Given the description of an element on the screen output the (x, y) to click on. 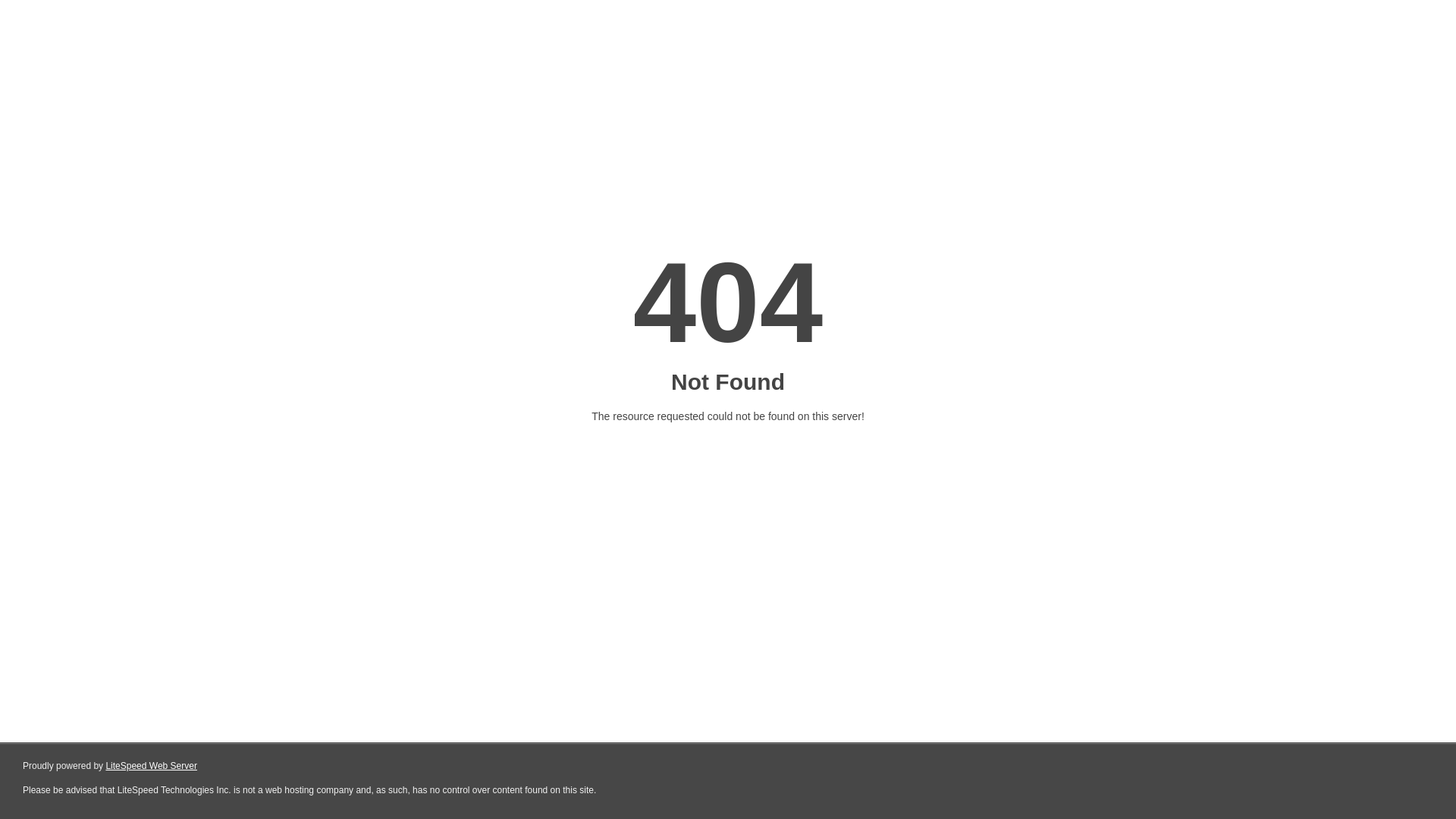
LiteSpeed Web Server Element type: text (151, 765)
